Given the description of an element on the screen output the (x, y) to click on. 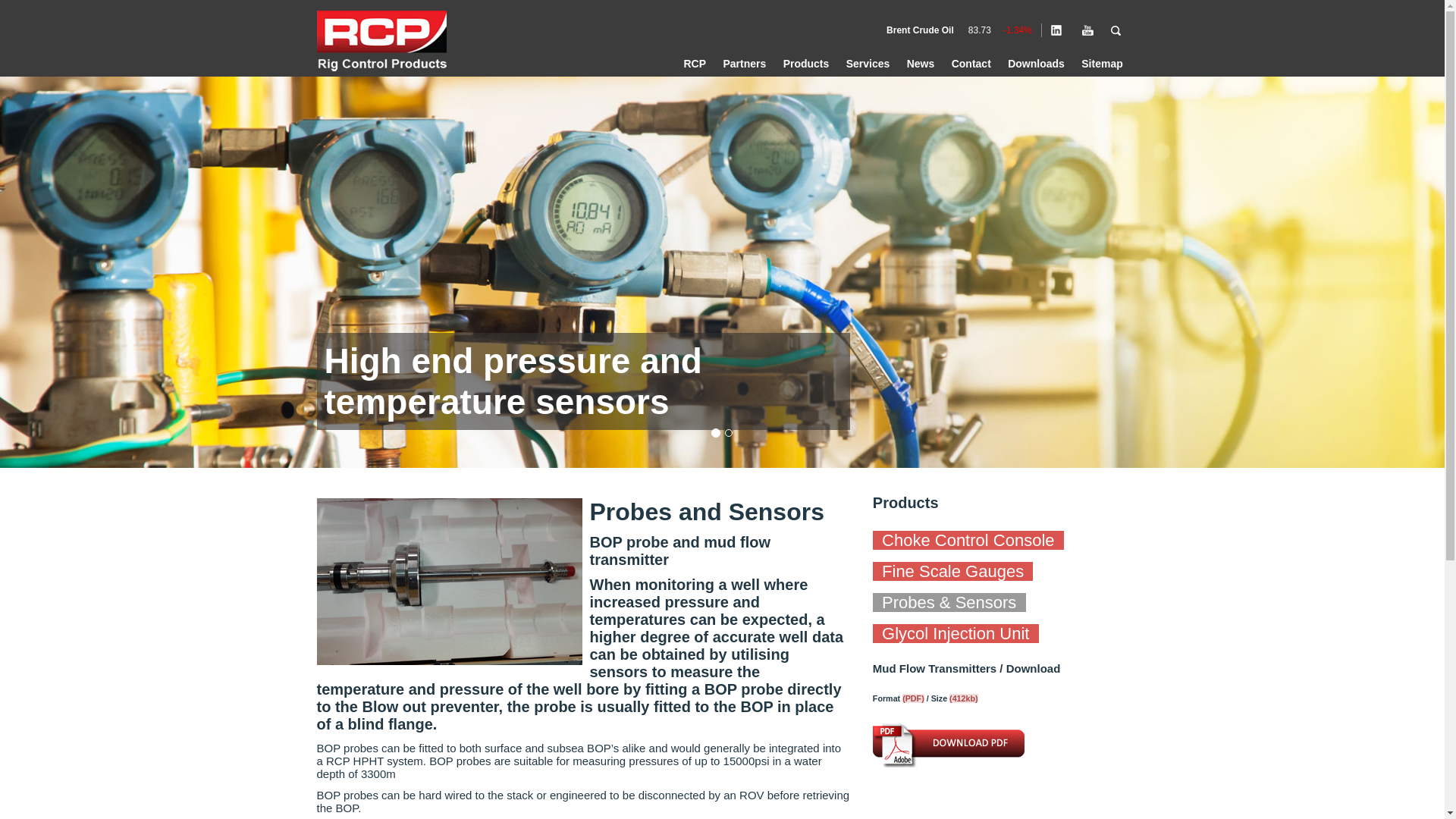
Products (804, 63)
website (384, 43)
RCP (694, 63)
Partners (743, 63)
Brent Crude Oil (919, 30)
